Given the description of an element on the screen output the (x, y) to click on. 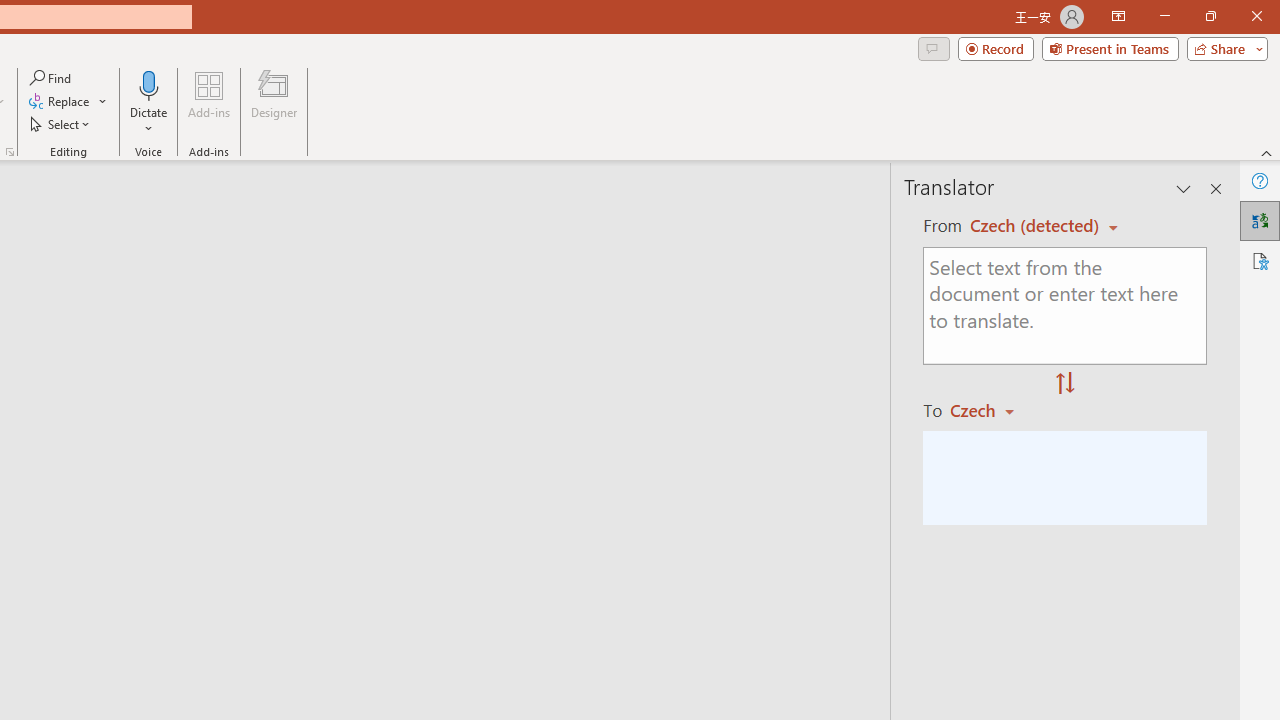
Present in Teams (1109, 48)
